Given the description of an element on the screen output the (x, y) to click on. 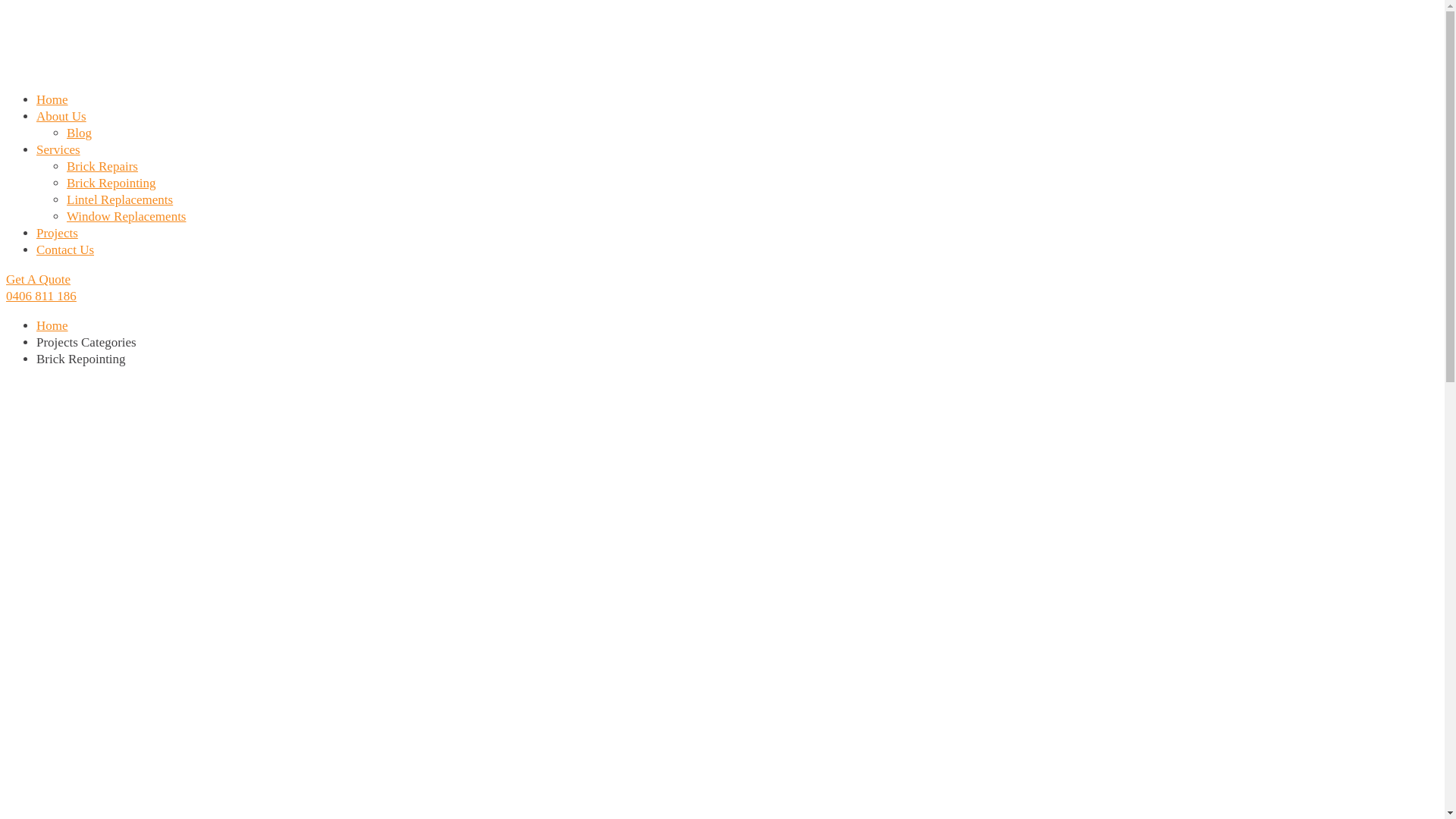
Get A Quote Element type: text (38, 279)
0406 811 186 Element type: text (41, 295)
Services Element type: text (58, 149)
Halls Construction Element type: hover (574, 69)
Brick Repointing Element type: text (111, 182)
Home Element type: text (52, 99)
Window Replacements Element type: text (125, 216)
Halls Construction Element type: hover (119, 69)
Blog Element type: text (78, 132)
Projects Element type: text (57, 232)
Contact Us Element type: text (65, 249)
Lintel Replacements Element type: text (119, 199)
Home Element type: text (52, 325)
About Us Element type: text (61, 116)
Brick Repairs Element type: text (102, 166)
Halls Construction Element type: hover (347, 69)
